Given the description of an element on the screen output the (x, y) to click on. 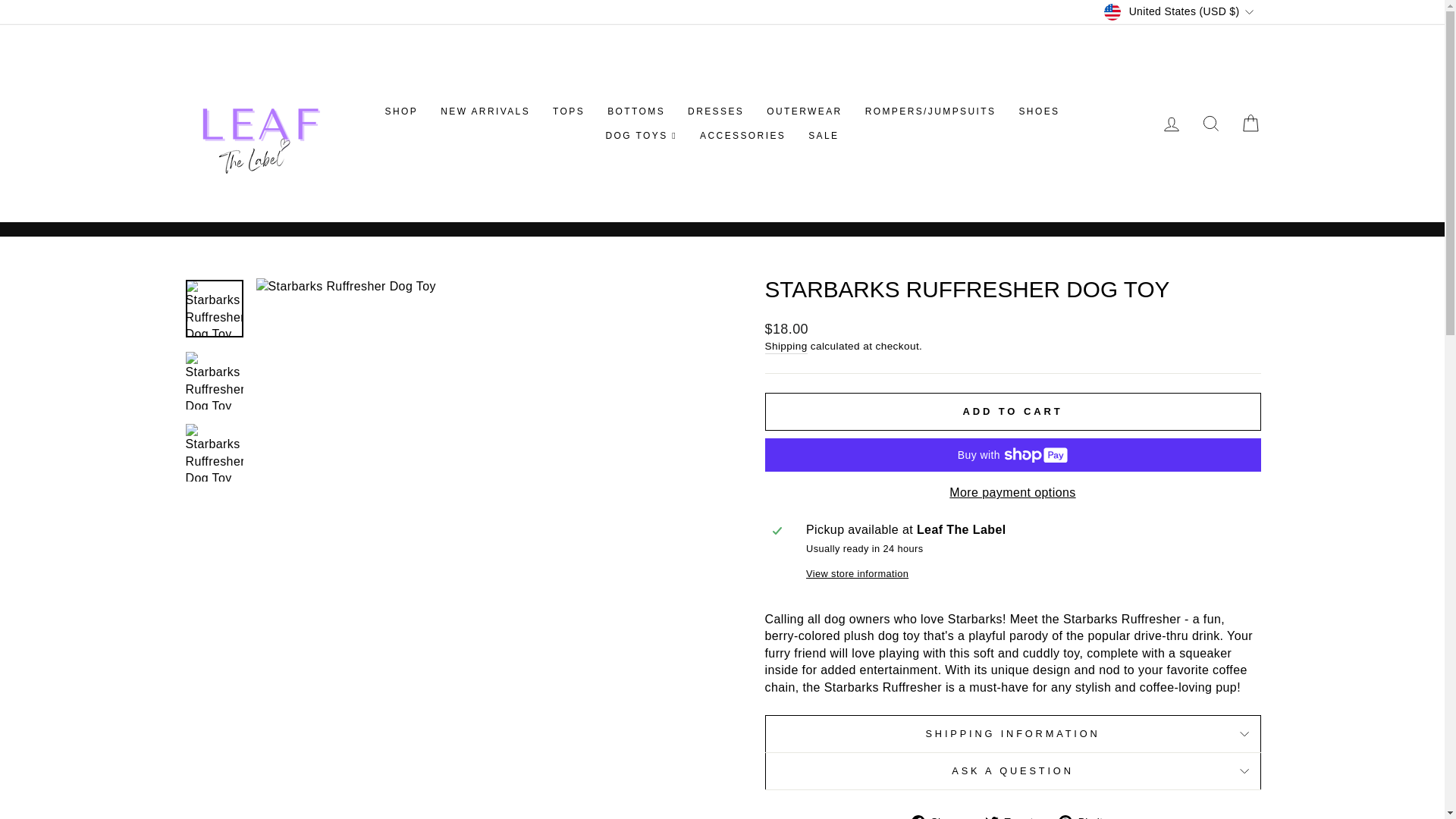
Pin on Pinterest (1085, 816)
Share on Facebook (941, 816)
LOG IN (1171, 123)
Tweet on Twitter (1015, 816)
SHOP (401, 111)
DRESSES (716, 111)
TOPS (568, 111)
OUTERWEAR (804, 111)
SHOES (1038, 111)
BOTTOMS (636, 111)
SALE (823, 135)
SEARCH (1210, 123)
ACCESSORIES (742, 135)
NEW ARRIVALS (485, 111)
